Given the description of an element on the screen output the (x, y) to click on. 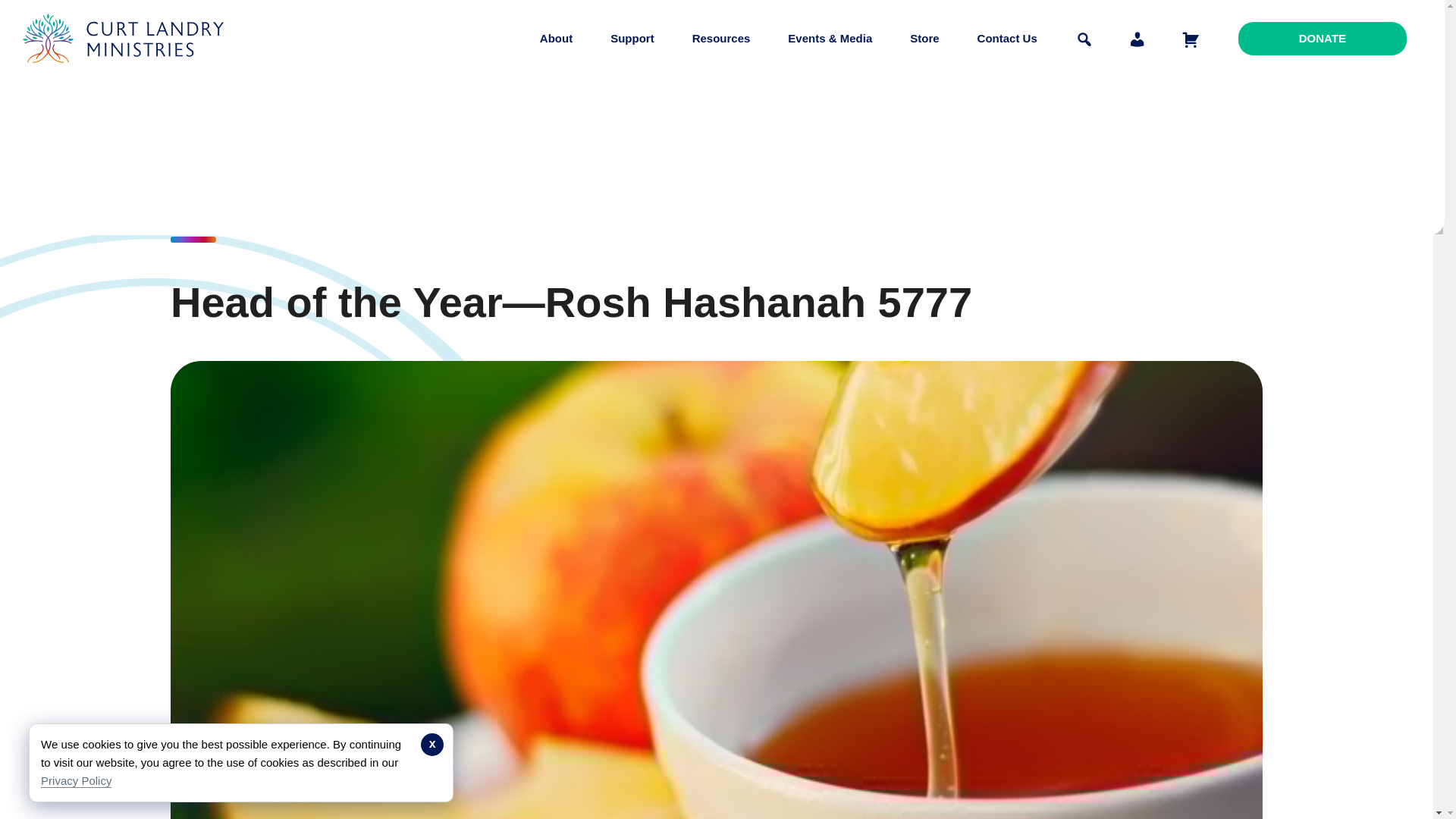
Store (924, 38)
Curt Landry Ministries (127, 74)
Support (631, 38)
About (556, 38)
Resources (721, 38)
